Given the description of an element on the screen output the (x, y) to click on. 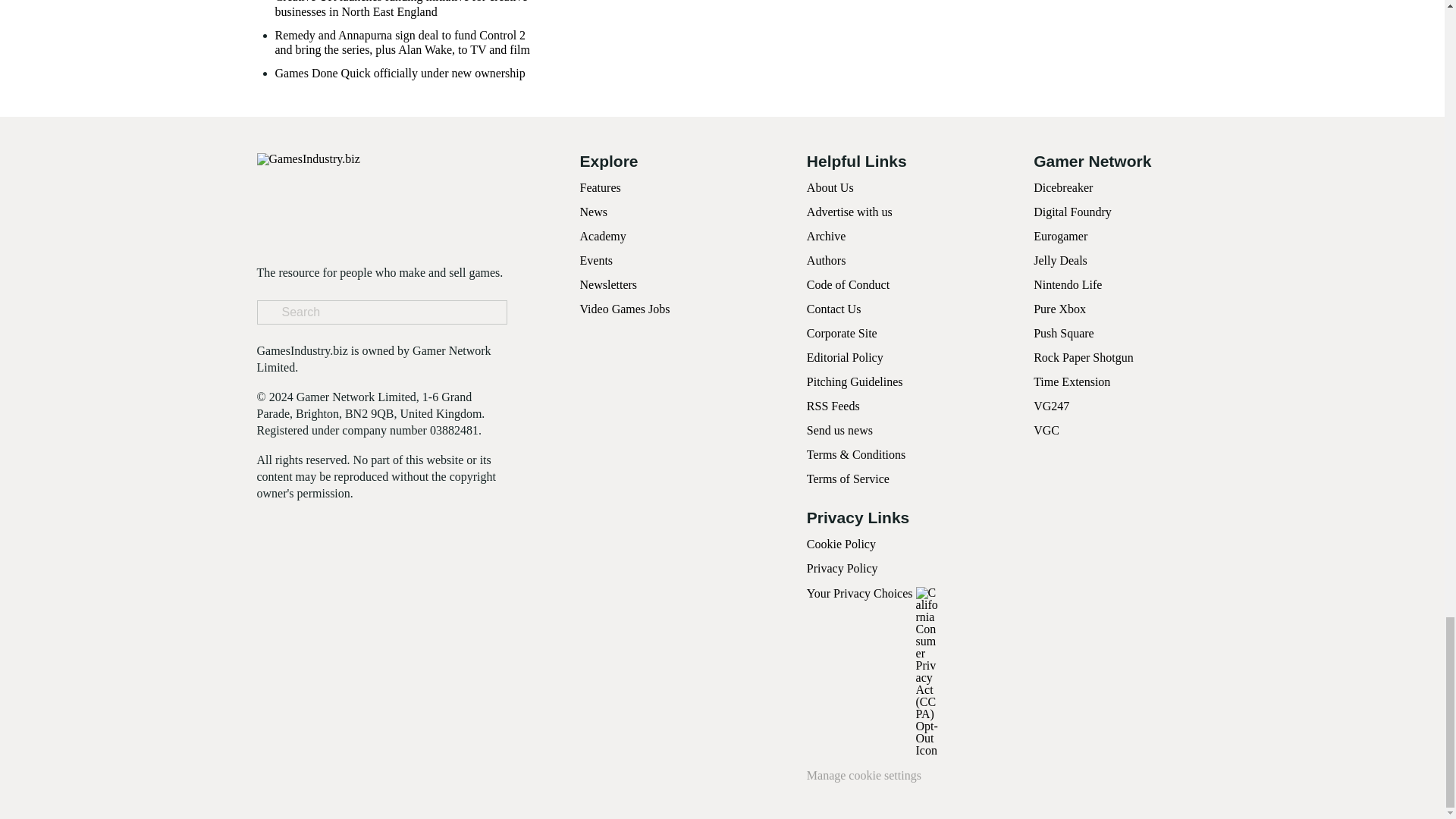
Features (599, 187)
News (593, 211)
Newsletters (608, 284)
Events (595, 259)
Video Games Jobs (624, 308)
About Us (829, 187)
Academy (602, 236)
